Given the description of an element on the screen output the (x, y) to click on. 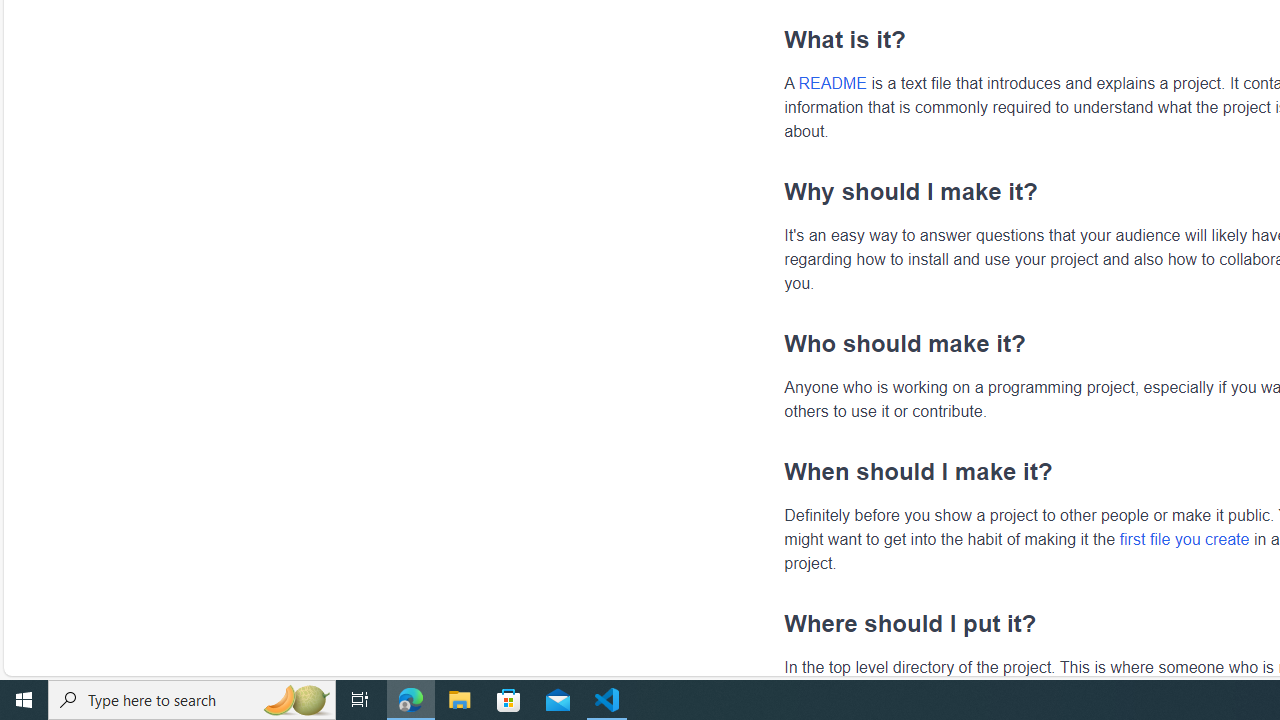
Anchor (774, 623)
README (831, 83)
first file you create (1184, 538)
